Given the description of an element on the screen output the (x, y) to click on. 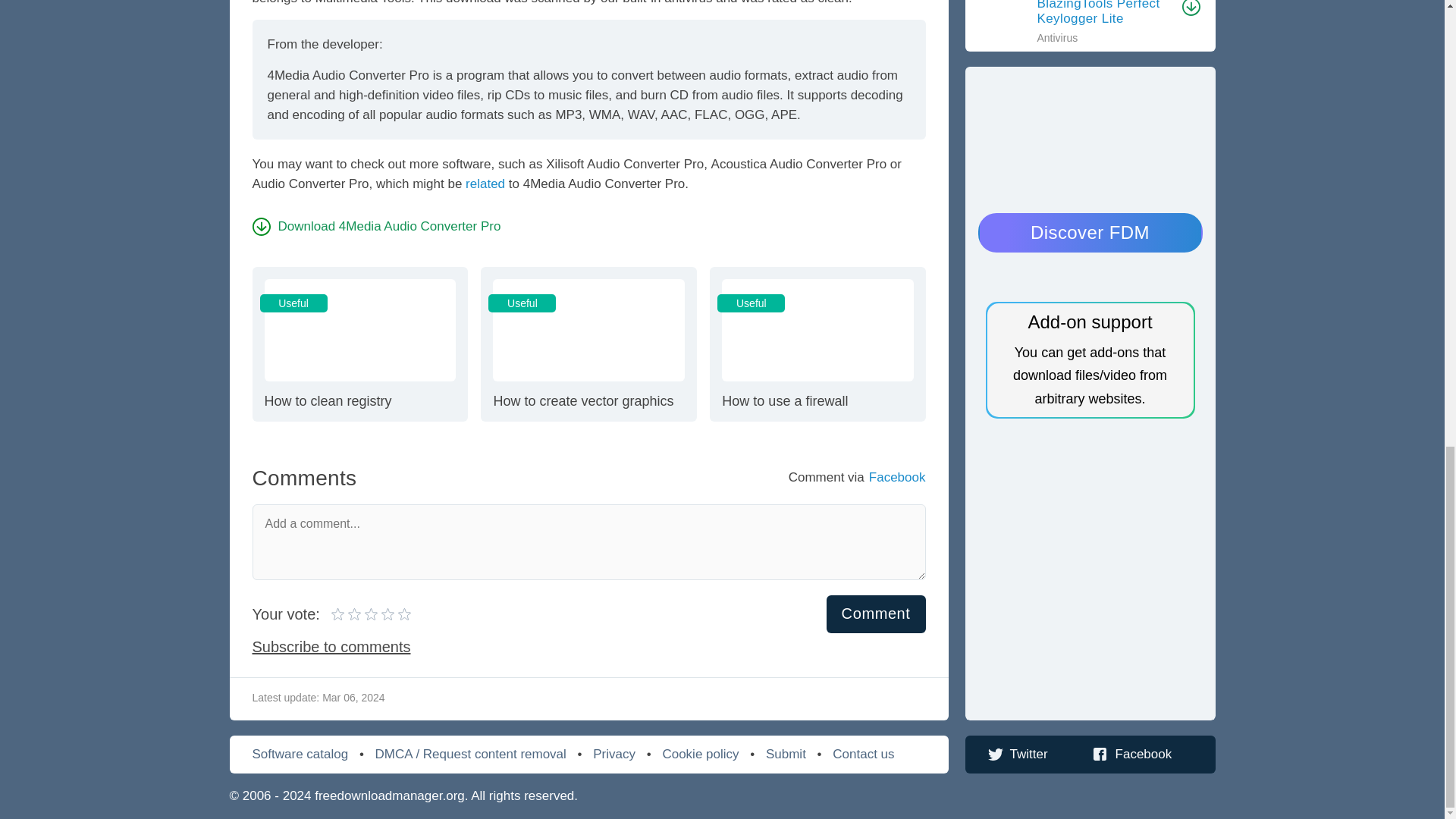
3 (817, 343)
related (355, 613)
Download 4Media Audio Converter Pro (485, 183)
2 (375, 226)
5 (346, 613)
1 (370, 613)
4 (587, 343)
